Given the description of an element on the screen output the (x, y) to click on. 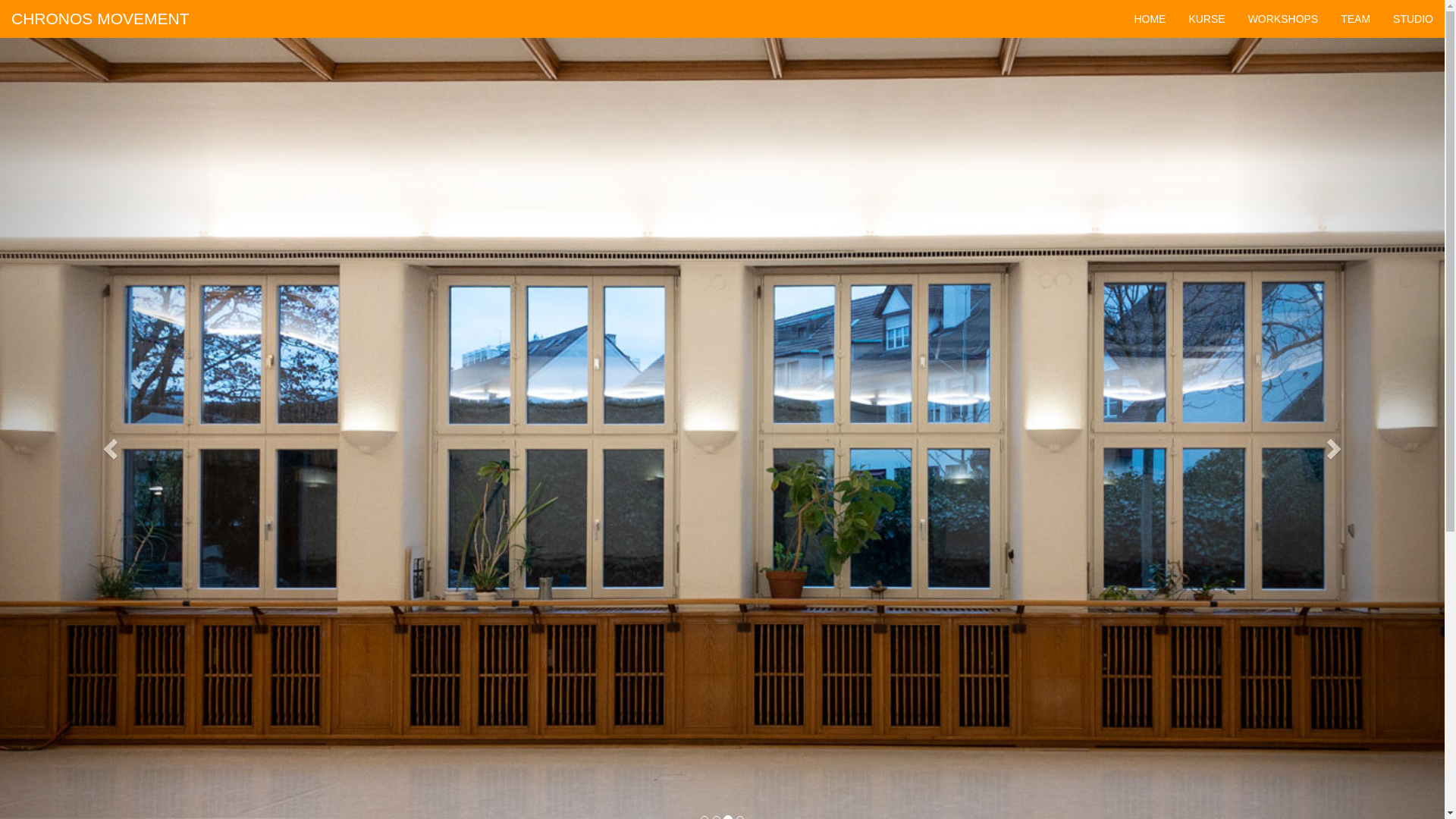
TEAM Element type: text (1355, 18)
CHRONOS MOVEMENT Element type: text (100, 18)
STUDIO Element type: text (1412, 18)
KURSE Element type: text (1206, 18)
WORKSHOPS Element type: text (1283, 18)
HOME Element type: text (1149, 18)
